Given the description of an element on the screen output the (x, y) to click on. 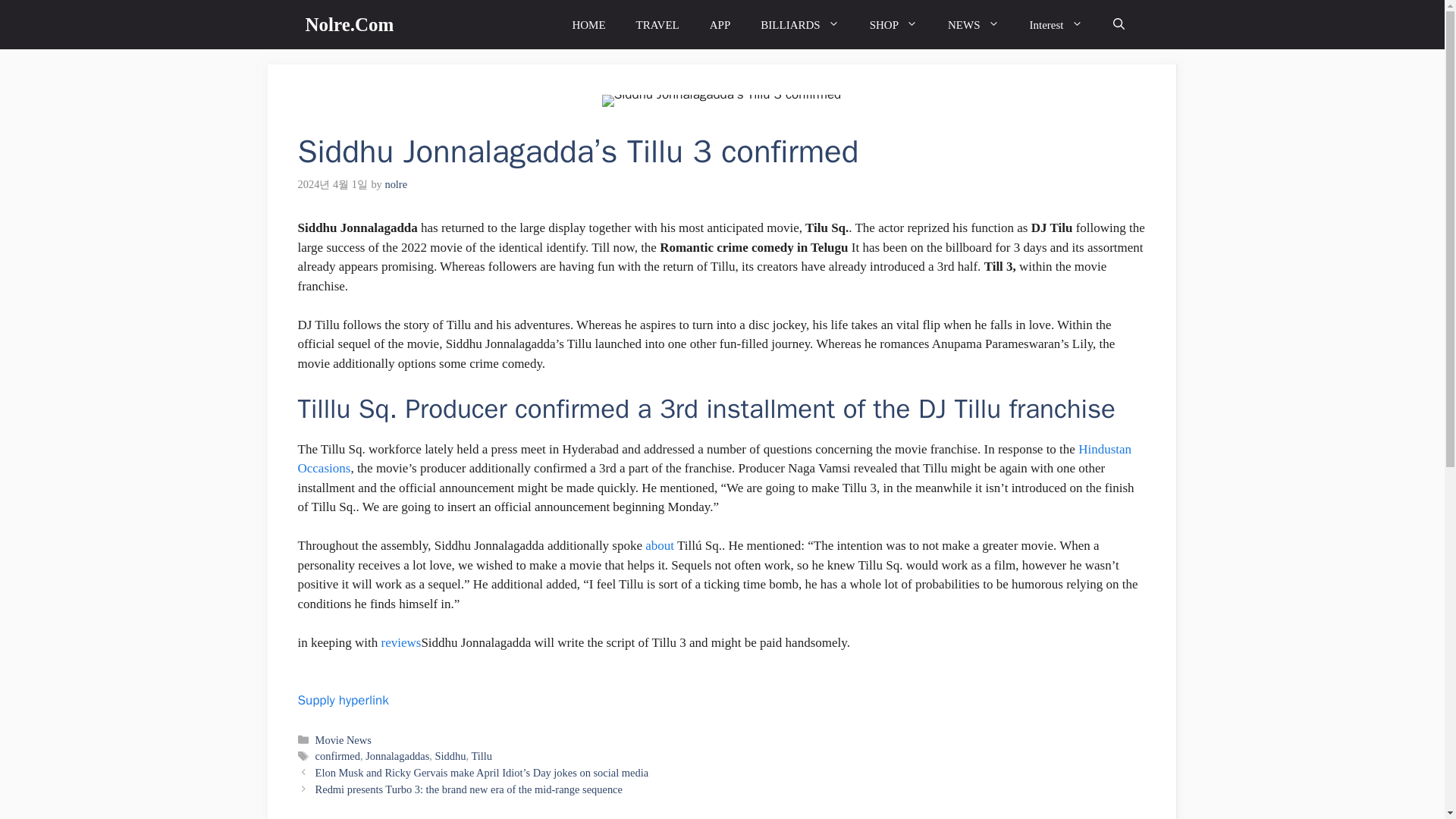
Nolre.Com (348, 24)
BILLIARDS (799, 23)
Interest (1055, 23)
APP (719, 23)
NEWS (973, 23)
SHOP (893, 23)
HOME (588, 23)
View all posts by nolre (395, 184)
TRAVEL (657, 23)
